Given the description of an element on the screen output the (x, y) to click on. 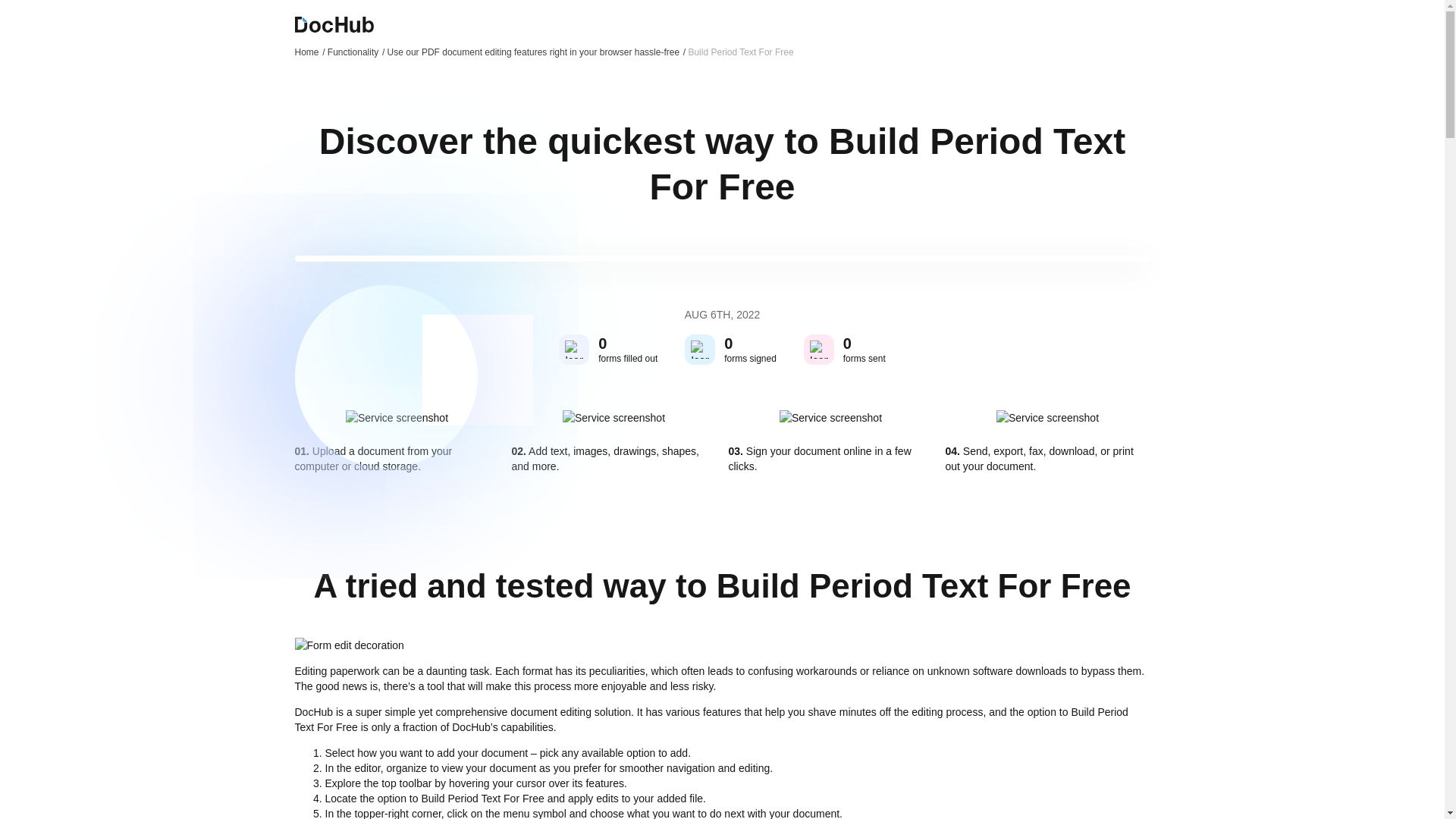
Home (309, 51)
Functionality (355, 51)
